Given the description of an element on the screen output the (x, y) to click on. 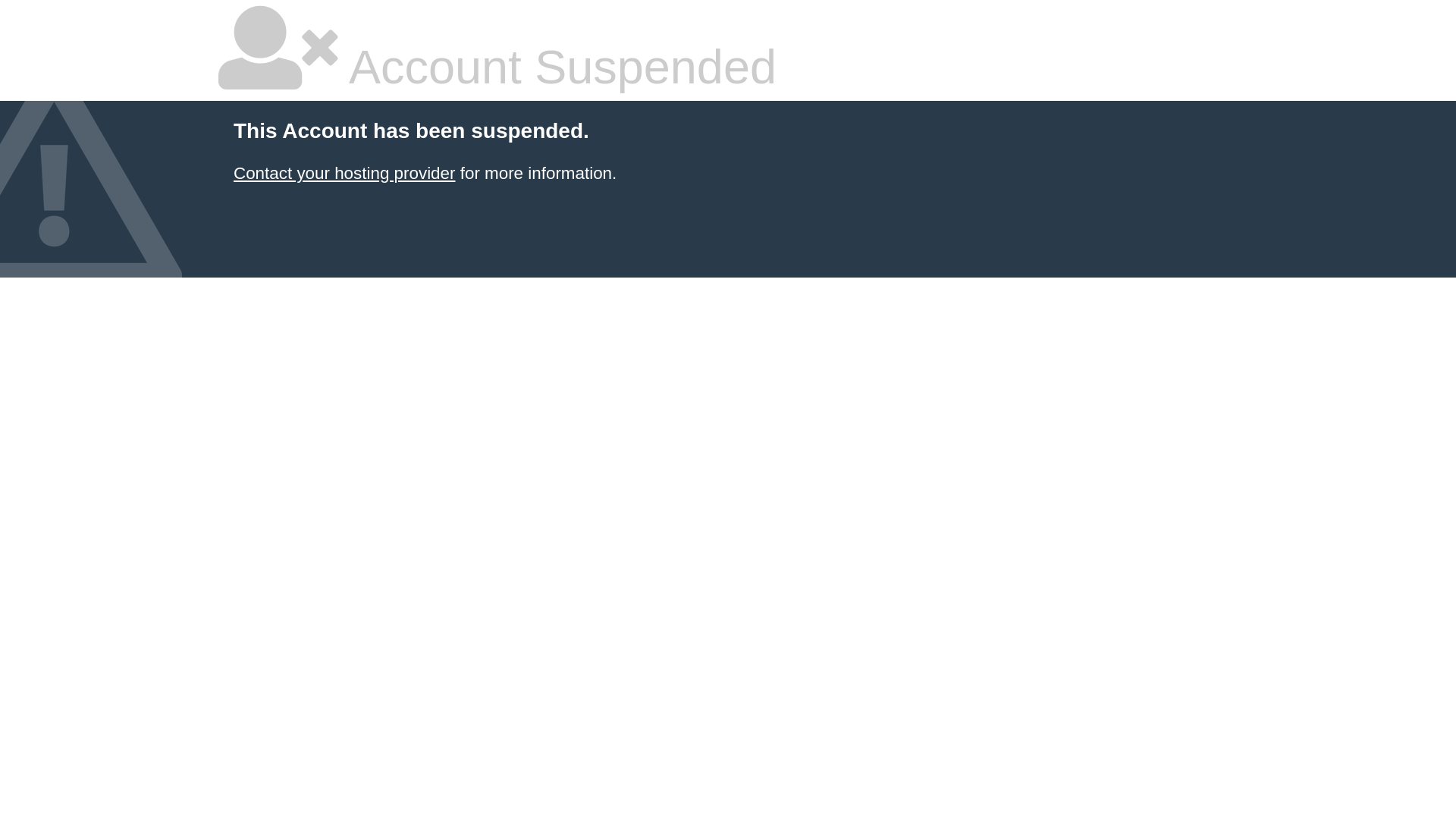
Contact your hosting provider Element type: text (344, 172)
